Given the description of an element on the screen output the (x, y) to click on. 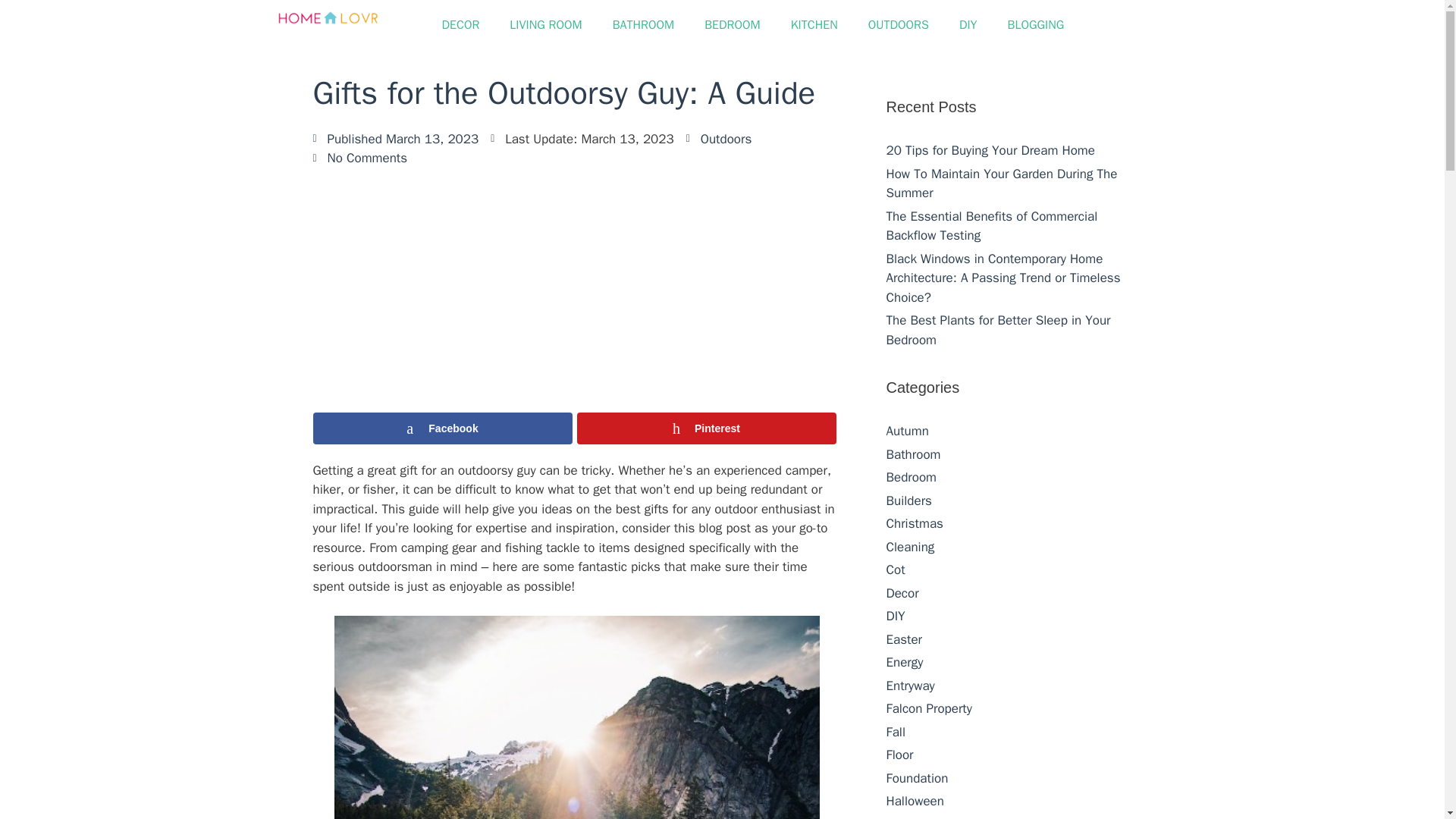
Facebook (442, 428)
20 Tips for Buying Your Dream Home (989, 150)
OUTDOORS (898, 24)
BATHROOM (643, 24)
BLOGGING (1036, 24)
Pinterest (705, 428)
Outdoors (726, 139)
BEDROOM (732, 24)
Autumn (906, 430)
